Given the description of an element on the screen output the (x, y) to click on. 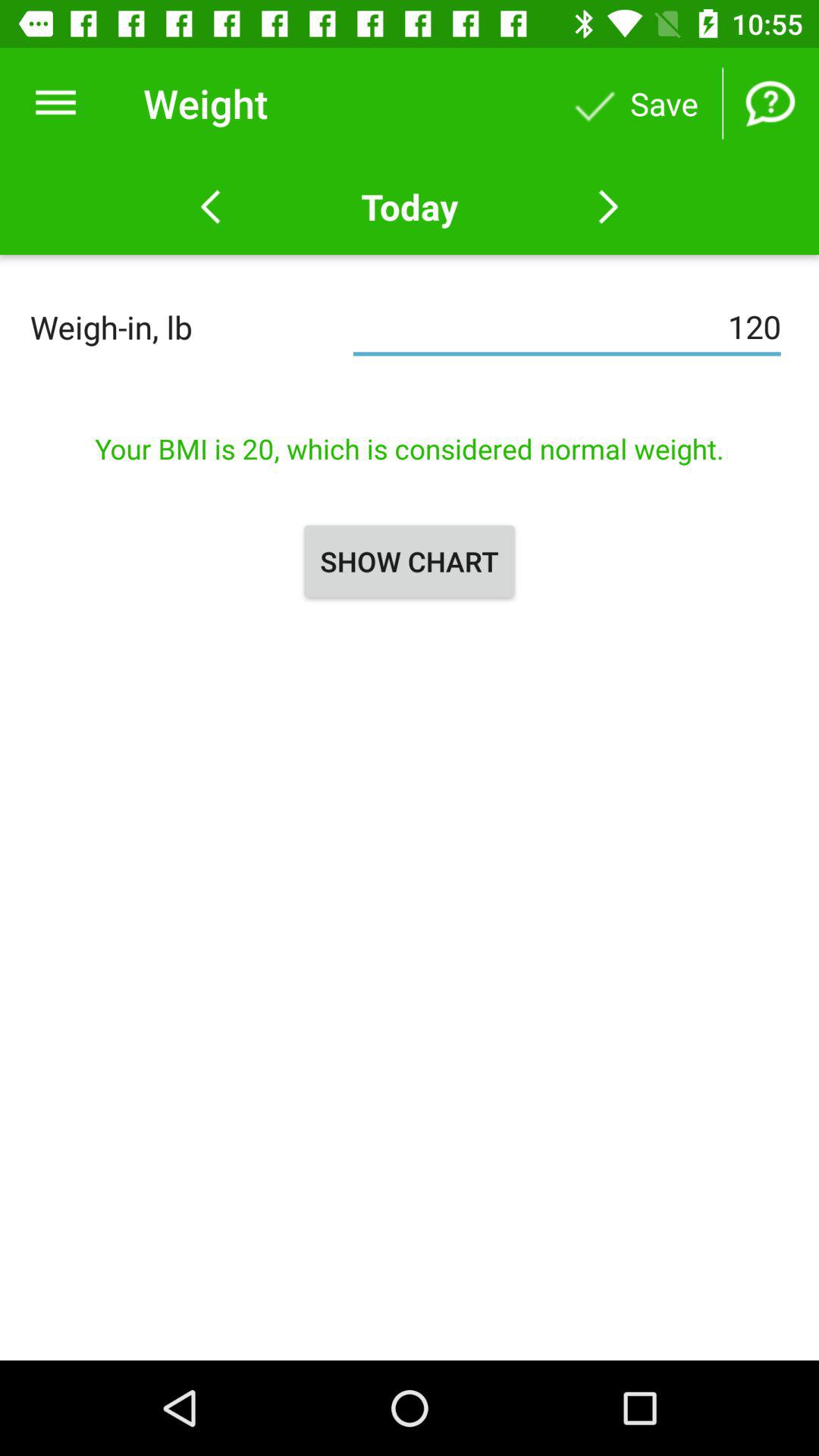
turn on the item at the center (409, 561)
